Given the description of an element on the screen output the (x, y) to click on. 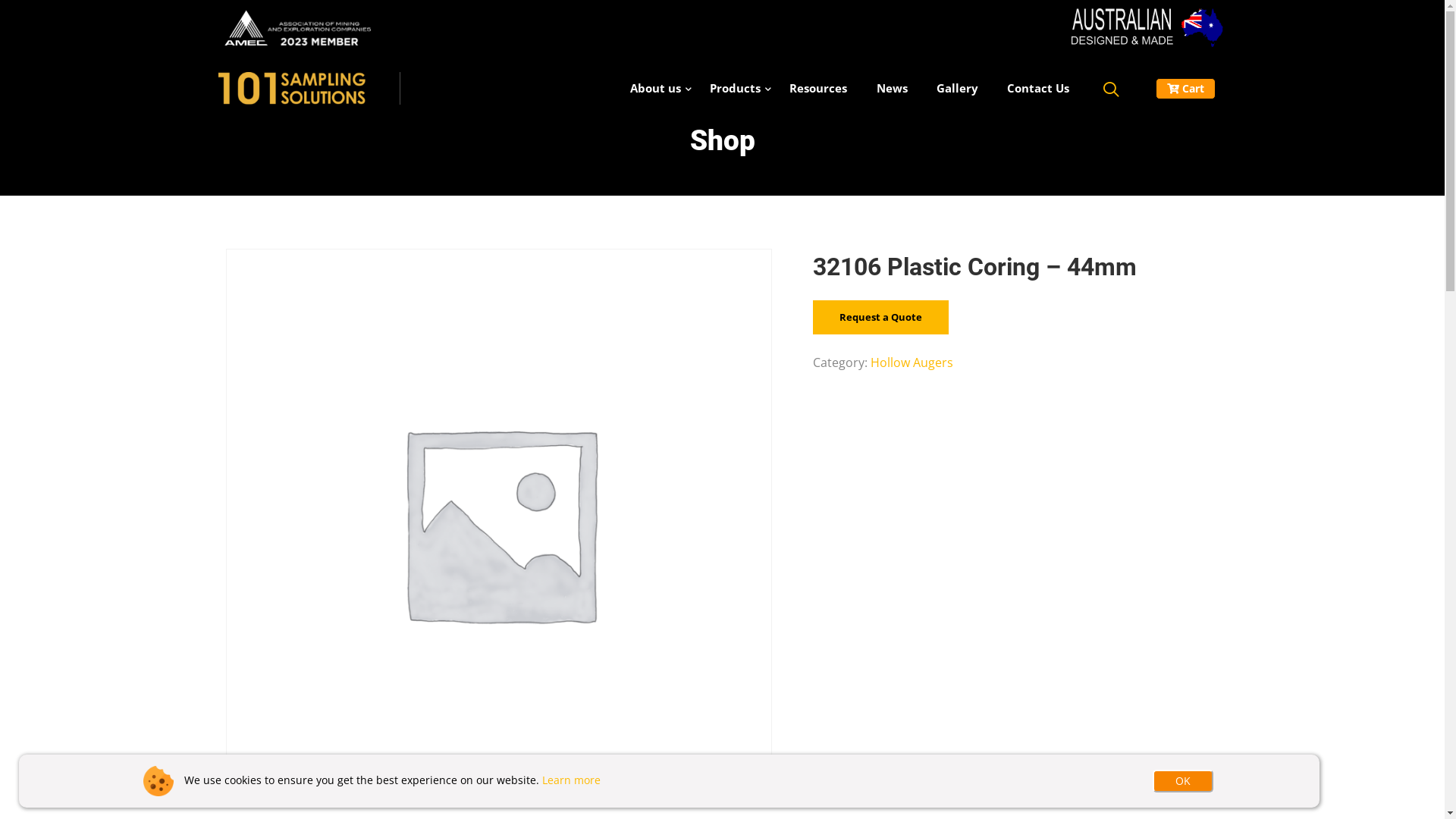
Request a Quote Element type: text (880, 317)
Gallery Element type: text (957, 88)
Resources Element type: text (818, 88)
Contact Us Element type: text (1037, 88)
Cart Element type: text (1185, 88)
Learn more Element type: text (571, 779)
101 Sampling Solutions Element type: hover (306, 88)
Hollow Augers Element type: text (911, 362)
News Element type: text (891, 88)
About us Element type: text (654, 88)
Products Element type: text (735, 88)
